Given the description of an element on the screen output the (x, y) to click on. 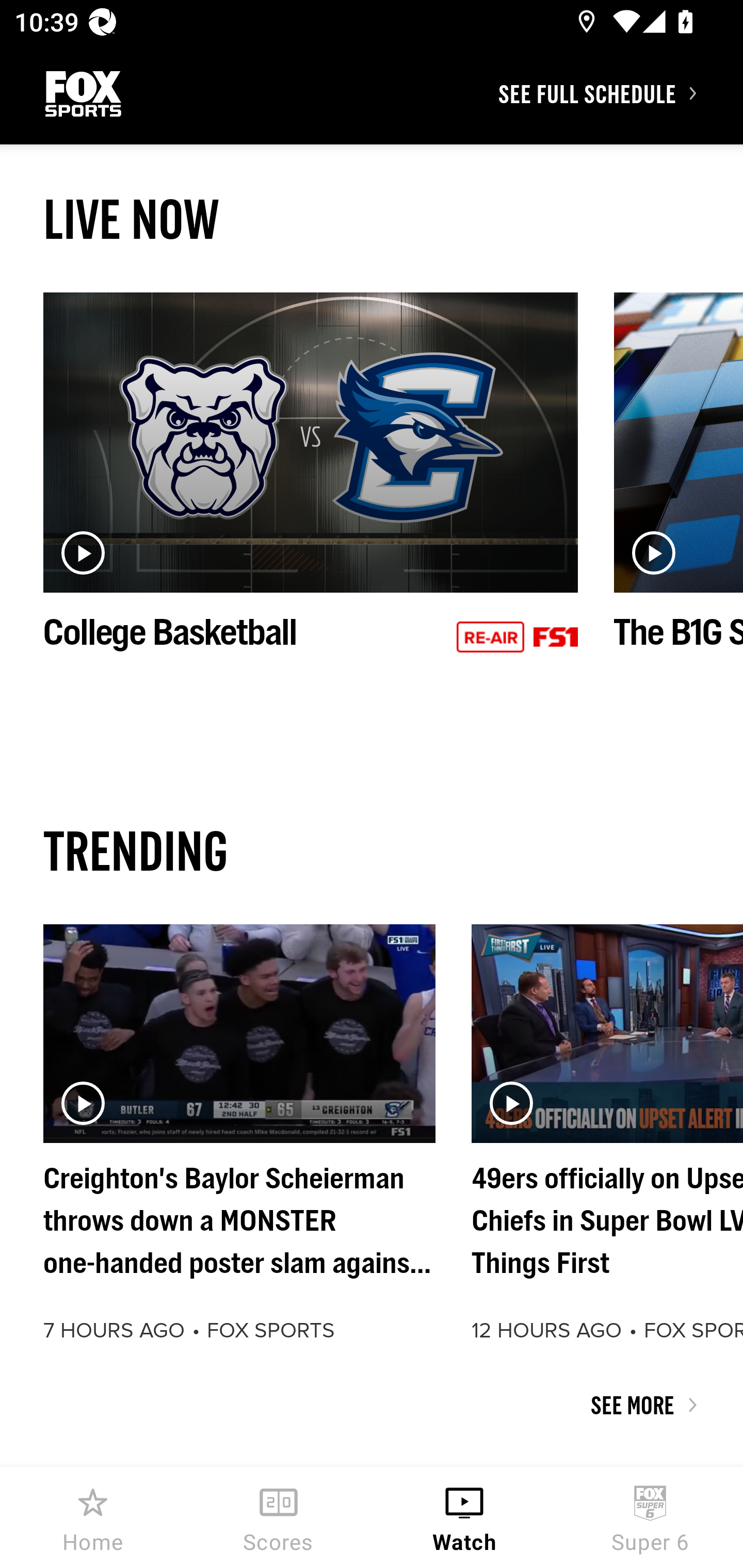
SEE FULL SCHEDULE (620, 93)
LIVE NOW (371, 218)
College Basketball (310, 494)
TRENDING (371, 850)
SEE MORE (371, 1404)
Home (92, 1517)
Scores (278, 1517)
Super 6 (650, 1517)
